Given the description of an element on the screen output the (x, y) to click on. 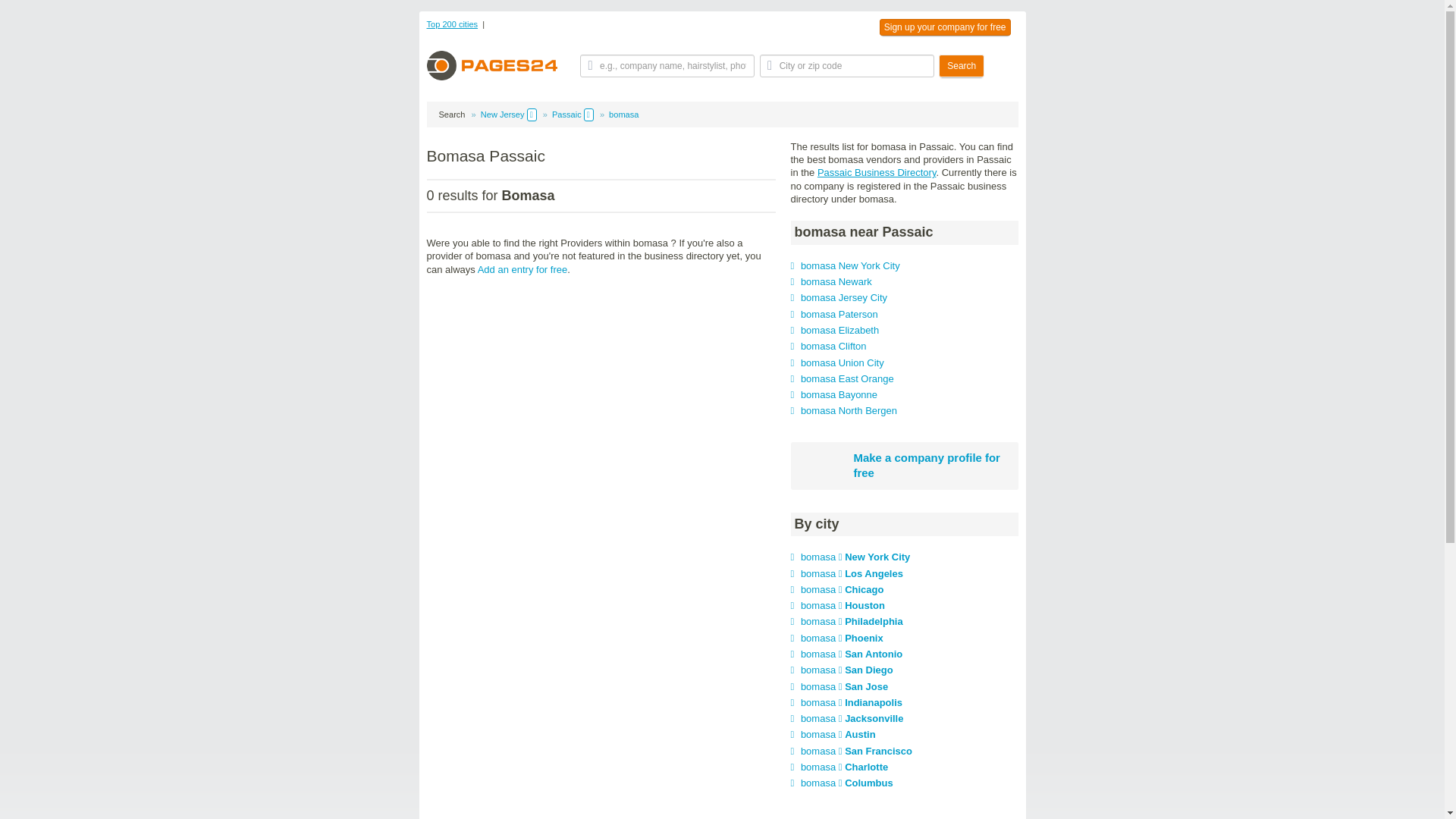
Passaic (565, 113)
Sign up your company for free (944, 27)
bomasa Bayonne (838, 394)
bomasa (623, 113)
bomasa Newark (836, 281)
Add an entry for free (522, 269)
bomasa Paterson (838, 314)
Top 200 cities (451, 23)
bomasa Elizabeth (839, 329)
bomasa Union City (841, 362)
bomasa East Orange (846, 378)
bomasa Union City (841, 362)
Passaic Business Directory (876, 172)
bomasa New York City (849, 265)
bomasa Paterson (838, 314)
